Given the description of an element on the screen output the (x, y) to click on. 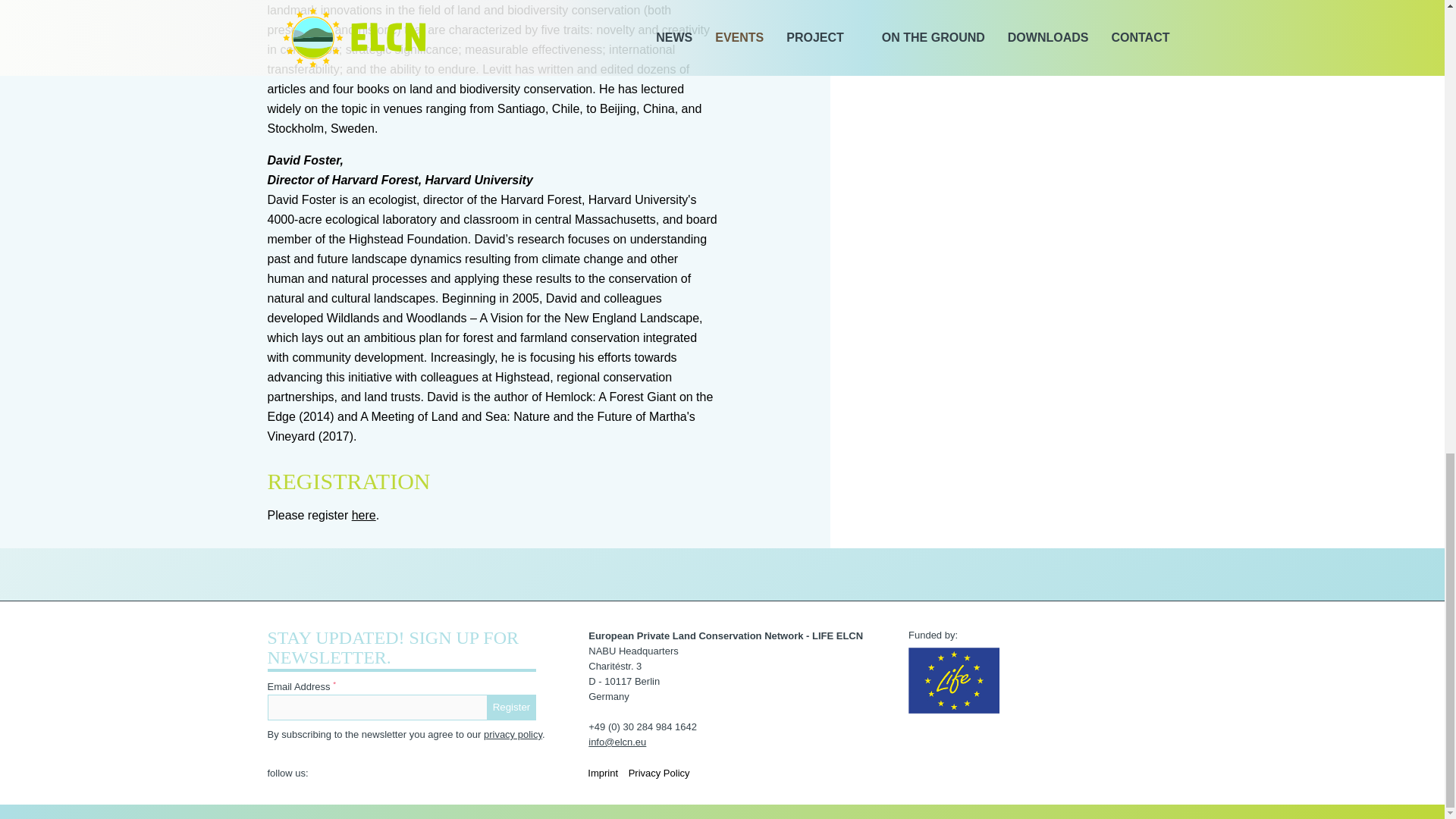
Register (510, 707)
Privacy Policy (659, 773)
privacy policy (512, 734)
here (363, 514)
Imprint (602, 773)
Register (510, 707)
